Given the description of an element on the screen output the (x, y) to click on. 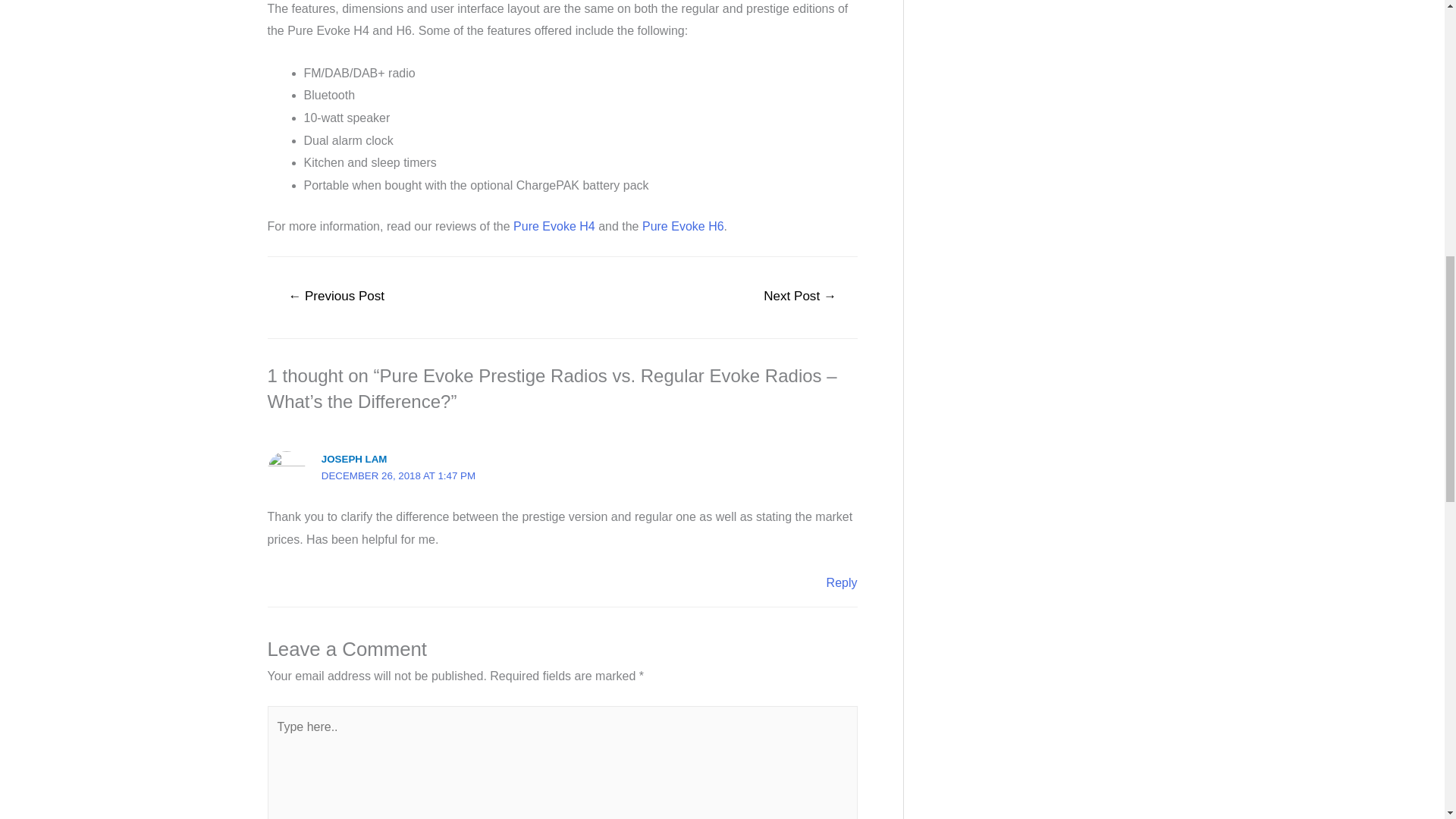
Reply (842, 582)
DECEMBER 26, 2018 AT 1:47 PM (398, 475)
Pure Evoke H4 (554, 226)
Pure Evoke H6 (682, 226)
